Given the description of an element on the screen output the (x, y) to click on. 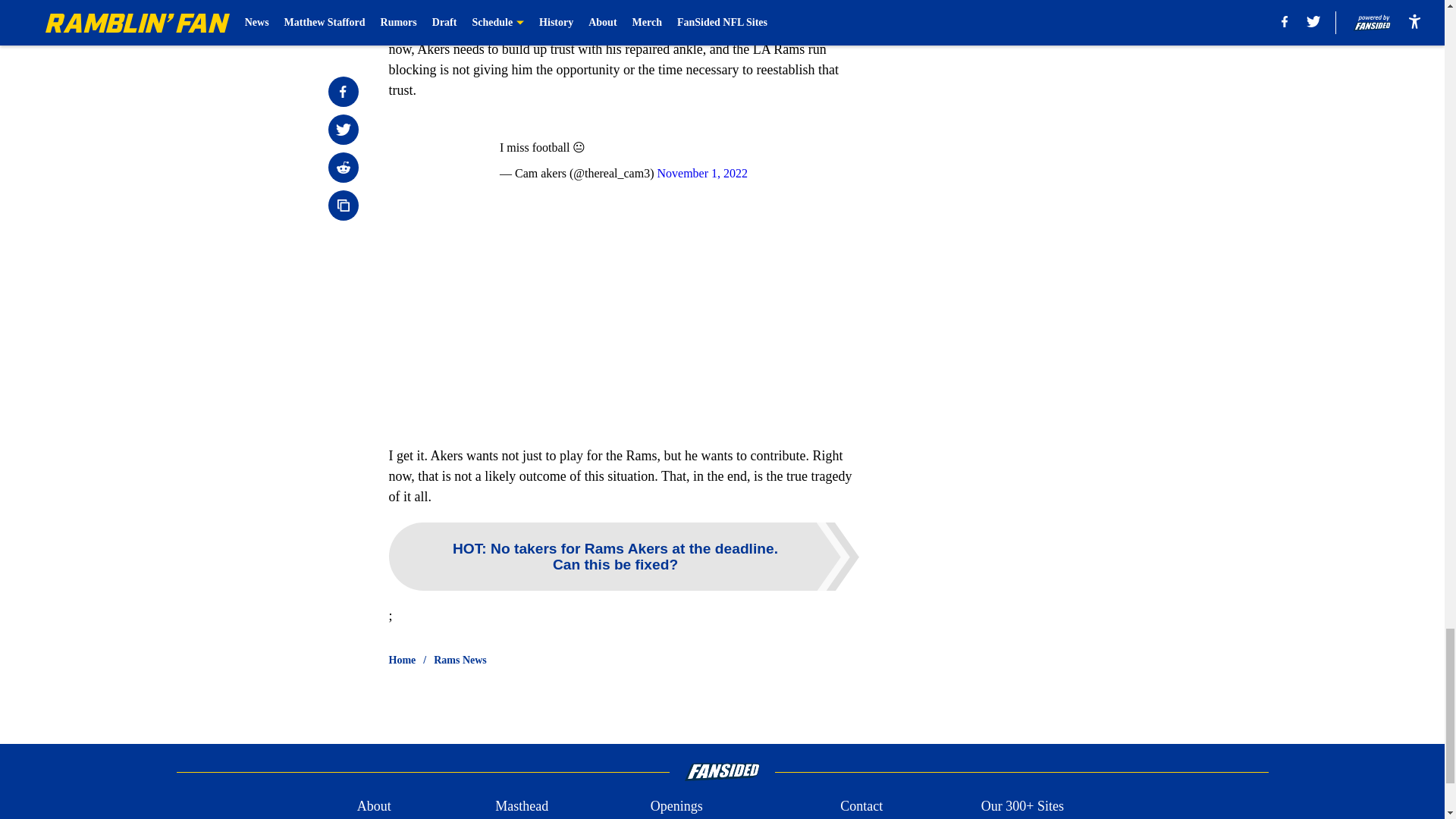
Rams News (459, 660)
Openings (676, 806)
Contact (861, 806)
Masthead (521, 806)
About (373, 806)
November 1, 2022 (702, 173)
Home (401, 660)
